Given the description of an element on the screen output the (x, y) to click on. 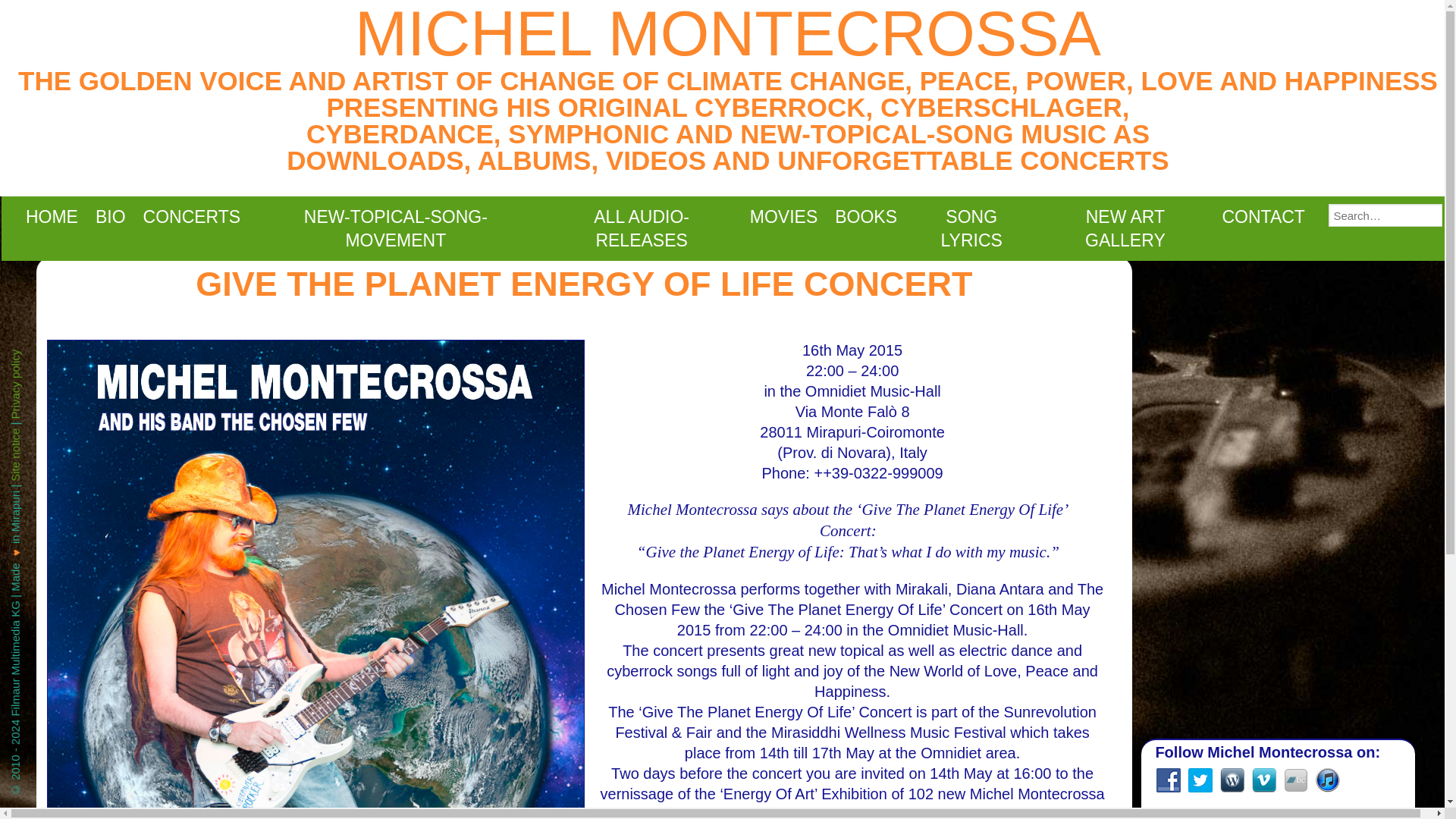
HOME (50, 216)
NEW-TOPICAL-SONG-MOVEMENT (394, 228)
BOOKS (866, 216)
Follow Us on Bandcamp (1295, 780)
Follow Us on iTunes (1327, 780)
Give The Planet Energy Of Life Concert (583, 283)
Michel Montecrossa (727, 34)
NEW ART GALLERY (1124, 228)
Follow Us on Wordpress (1232, 780)
MOVIES (783, 216)
ALL AUDIO-RELEASES (641, 228)
Follow Us on Vimeo (1264, 780)
Follow Us on Facebook (1168, 780)
SONG LYRICS (970, 228)
BIO (109, 216)
